Given the description of an element on the screen output the (x, y) to click on. 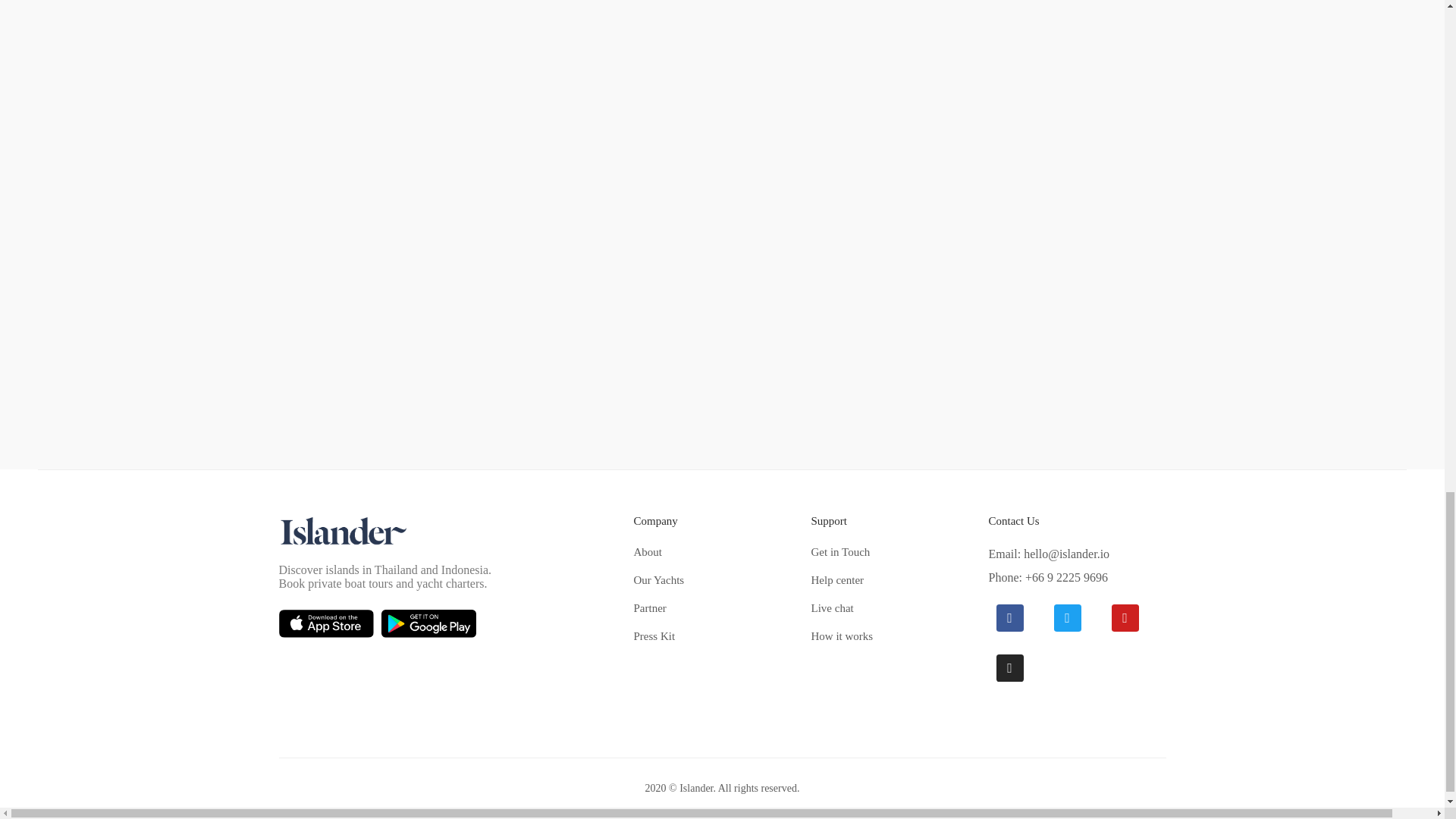
Page 1 (456, 576)
